Given the description of an element on the screen output the (x, y) to click on. 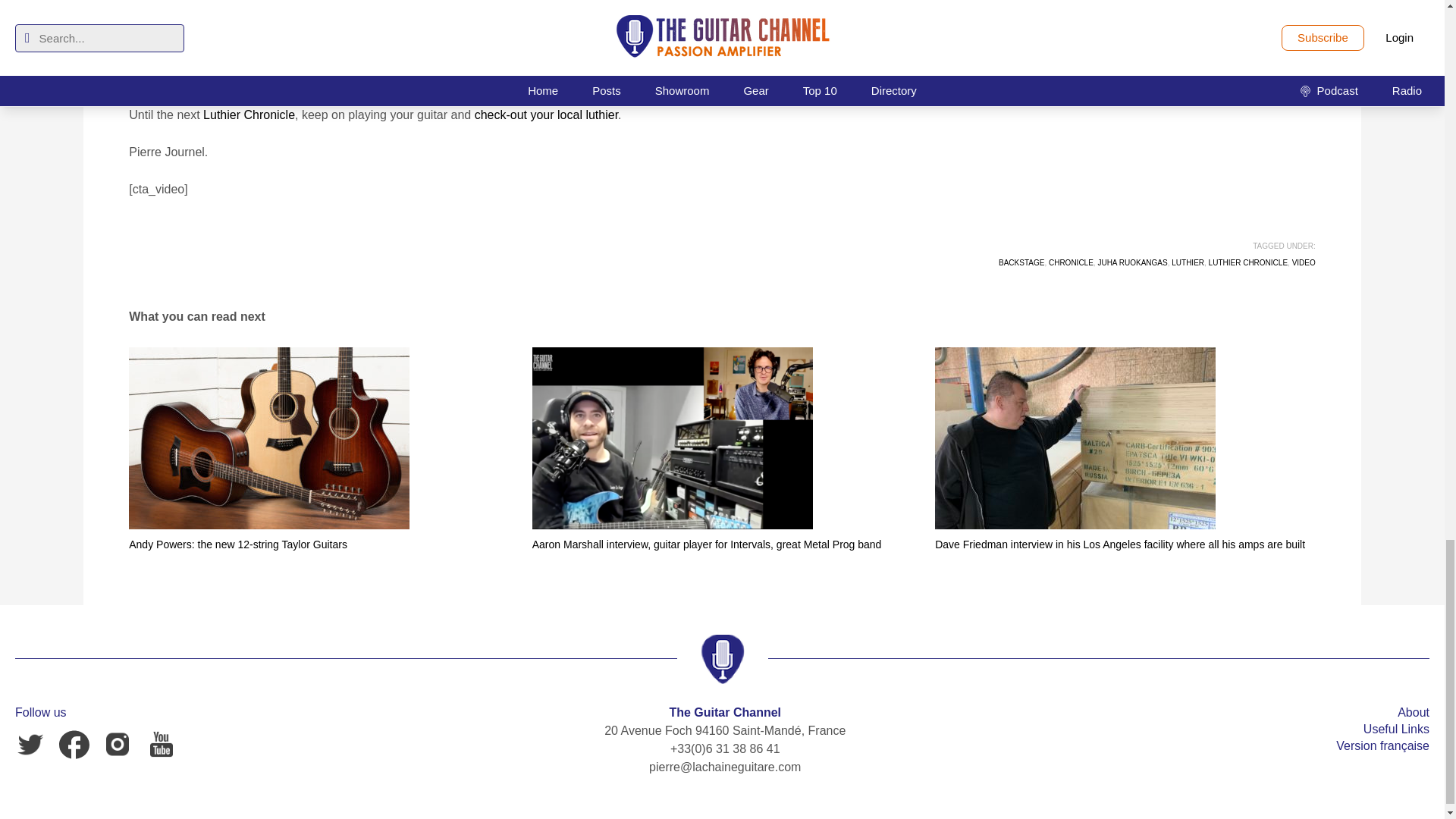
Aaron Marshall PJ Zoom 2020 (672, 438)
TaylorGuitars12string2016 (269, 438)
Usine Friedman 2020 6961 2 (1074, 438)
